Given the description of an element on the screen output the (x, y) to click on. 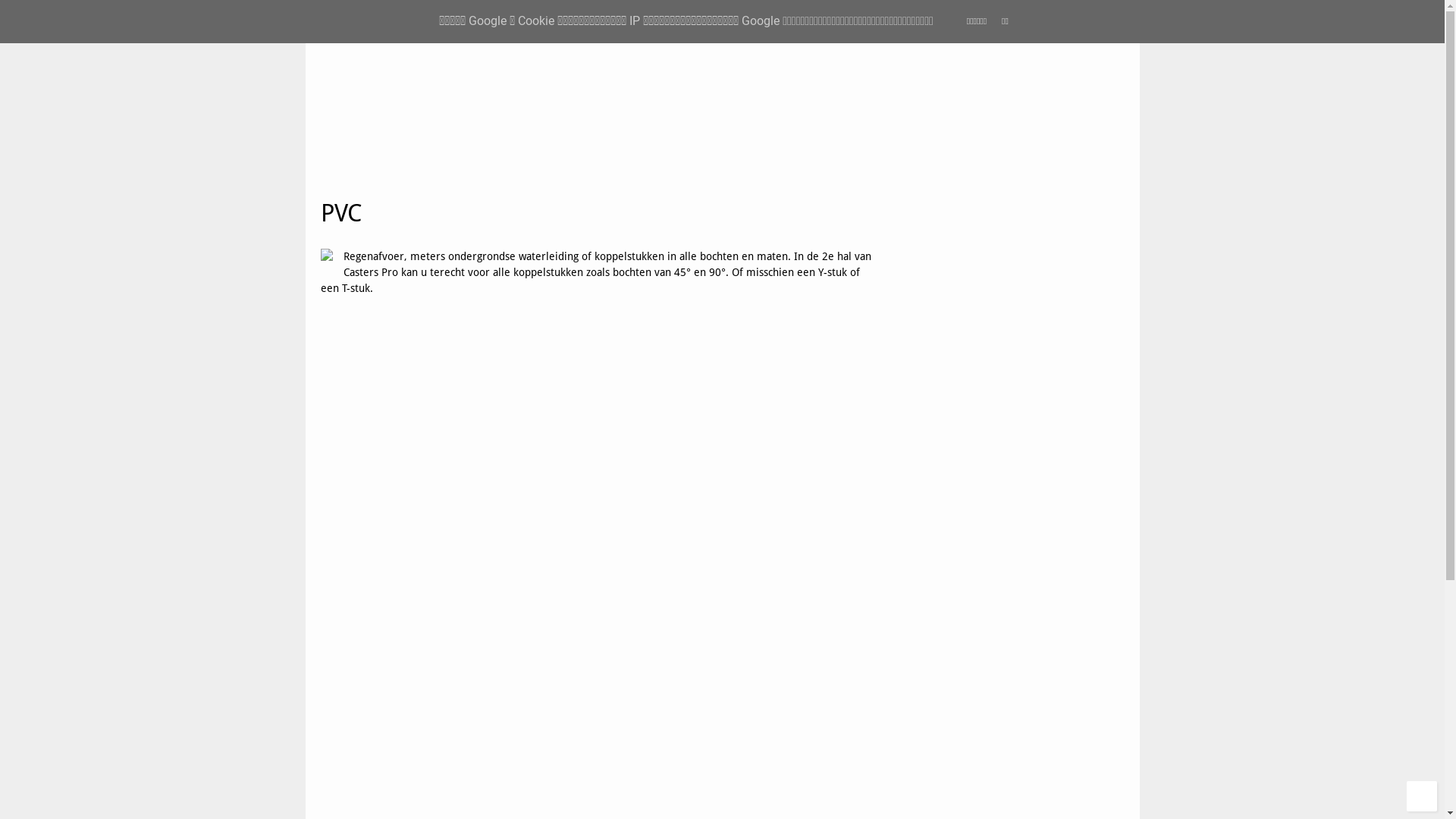
Inschrijven Element type: text (941, 323)
